Given the description of an element on the screen output the (x, y) to click on. 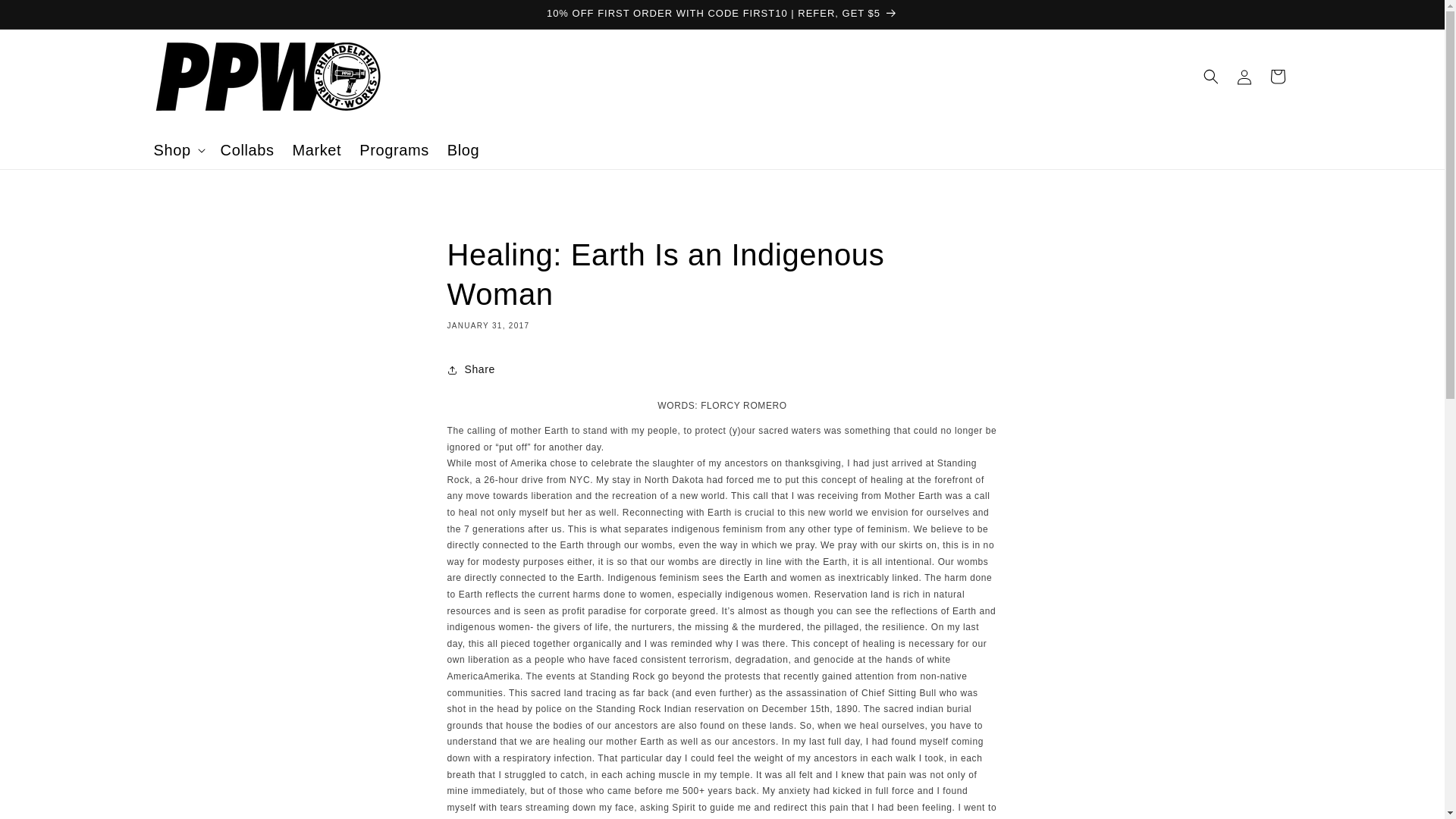
Skip to content (45, 17)
